Given the description of an element on the screen output the (x, y) to click on. 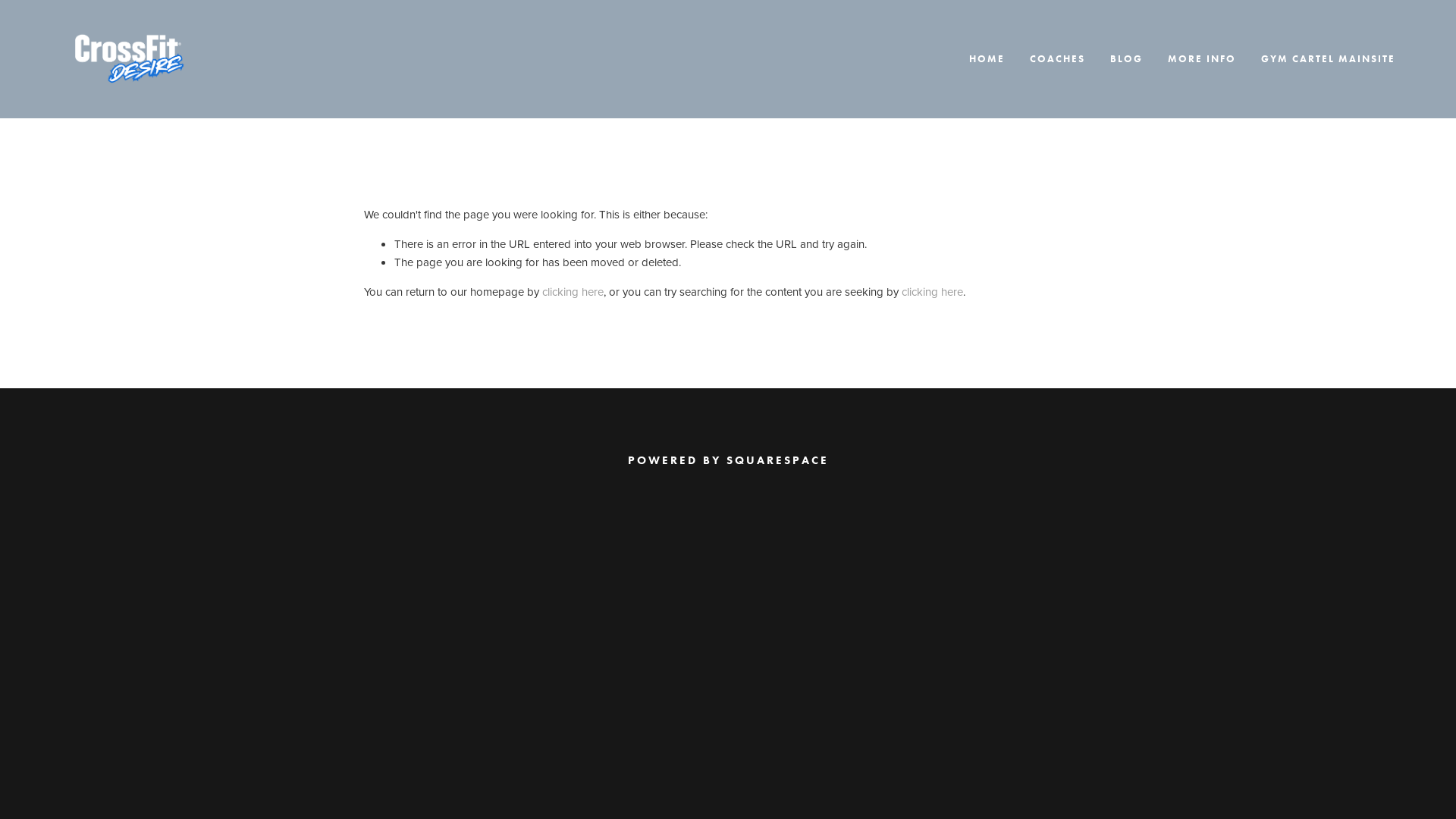
BLOG Element type: text (1126, 58)
POWERED BY SQUARESPACE Element type: text (727, 459)
GYM CARTEL MAINSITE Element type: text (1328, 58)
COACHES Element type: text (1057, 58)
clicking here Element type: text (932, 291)
MORE INFO Element type: text (1201, 58)
HOME Element type: text (986, 58)
clicking here Element type: text (572, 291)
